Given the description of an element on the screen output the (x, y) to click on. 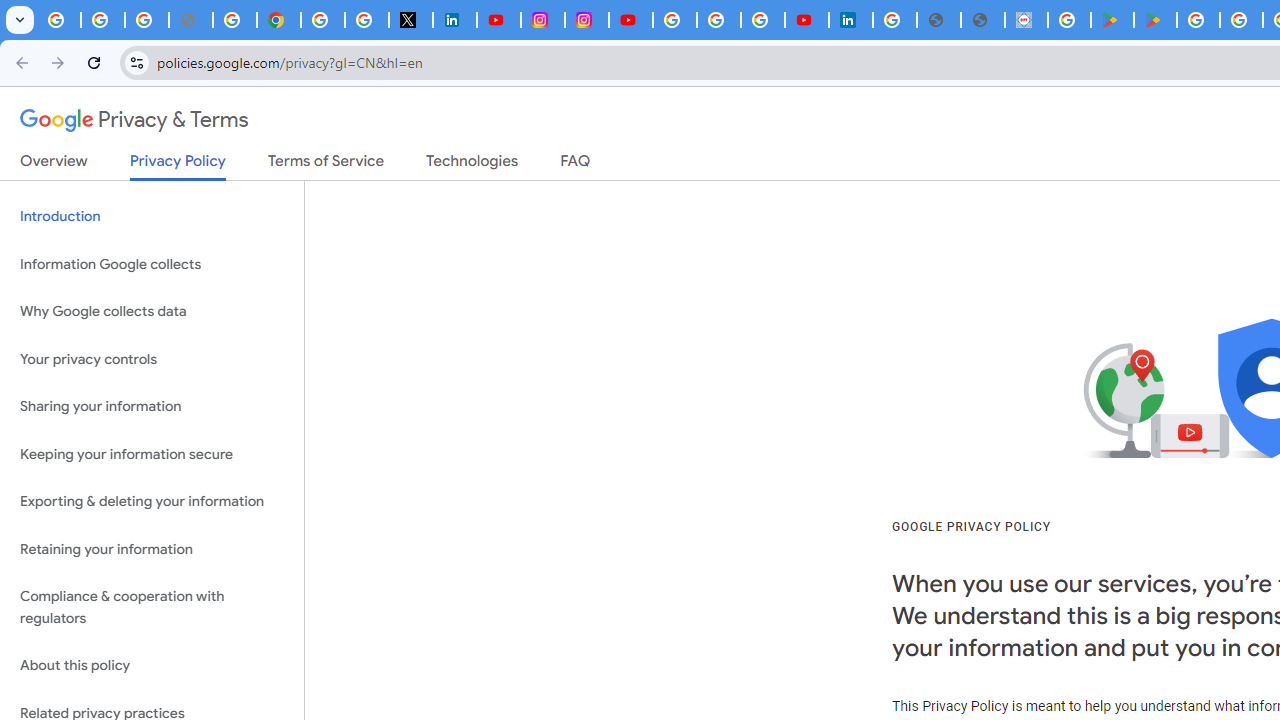
Sign in - Google Accounts (674, 20)
Retaining your information (152, 548)
YouTube Content Monetization Policies - How YouTube Works (498, 20)
User Details (982, 20)
